Given the description of an element on the screen output the (x, y) to click on. 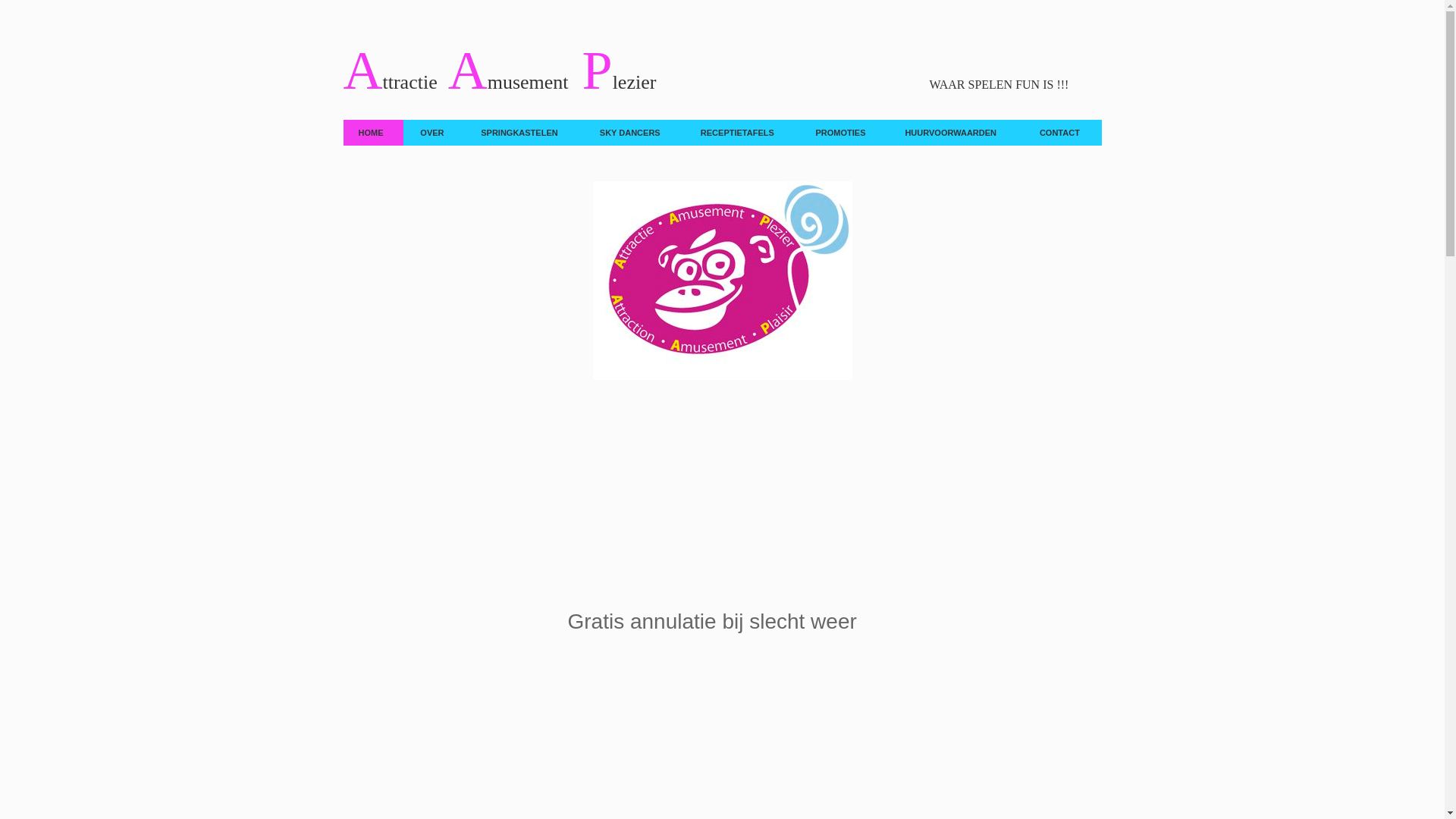
SKY DANCERS Element type: text (634, 132)
RECEPTIETAFELS Element type: text (742, 132)
CONTACT Element type: text (1062, 132)
OVER Element type: text (434, 132)
HOME Element type: text (372, 132)
HUURVOORWAARDEN Element type: text (955, 132)
SPRINGKASTELEN Element type: text (523, 132)
PROMOTIES Element type: text (844, 132)
